Given the description of an element on the screen output the (x, y) to click on. 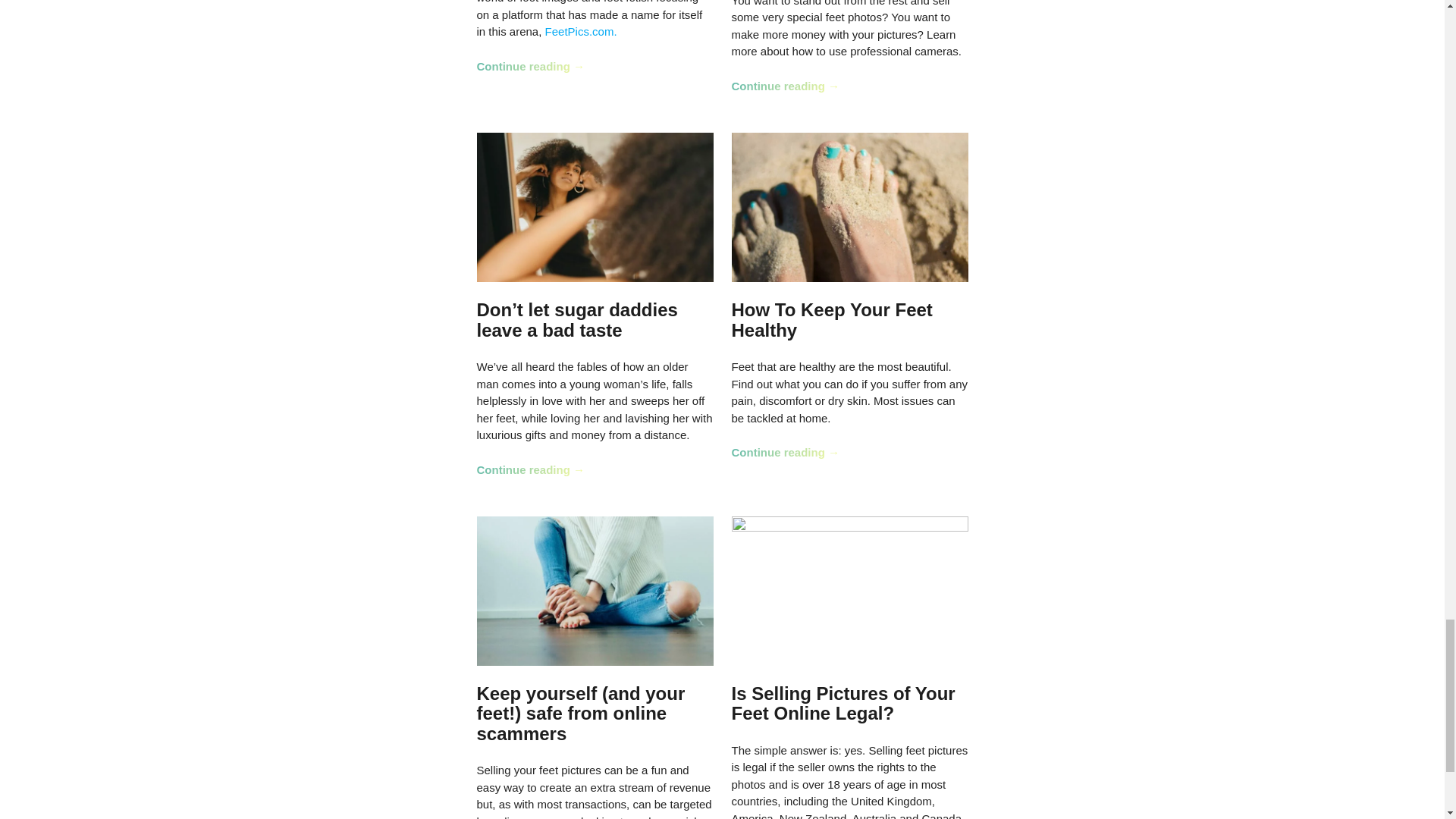
FeetPics.com. (580, 31)
